Given the description of an element on the screen output the (x, y) to click on. 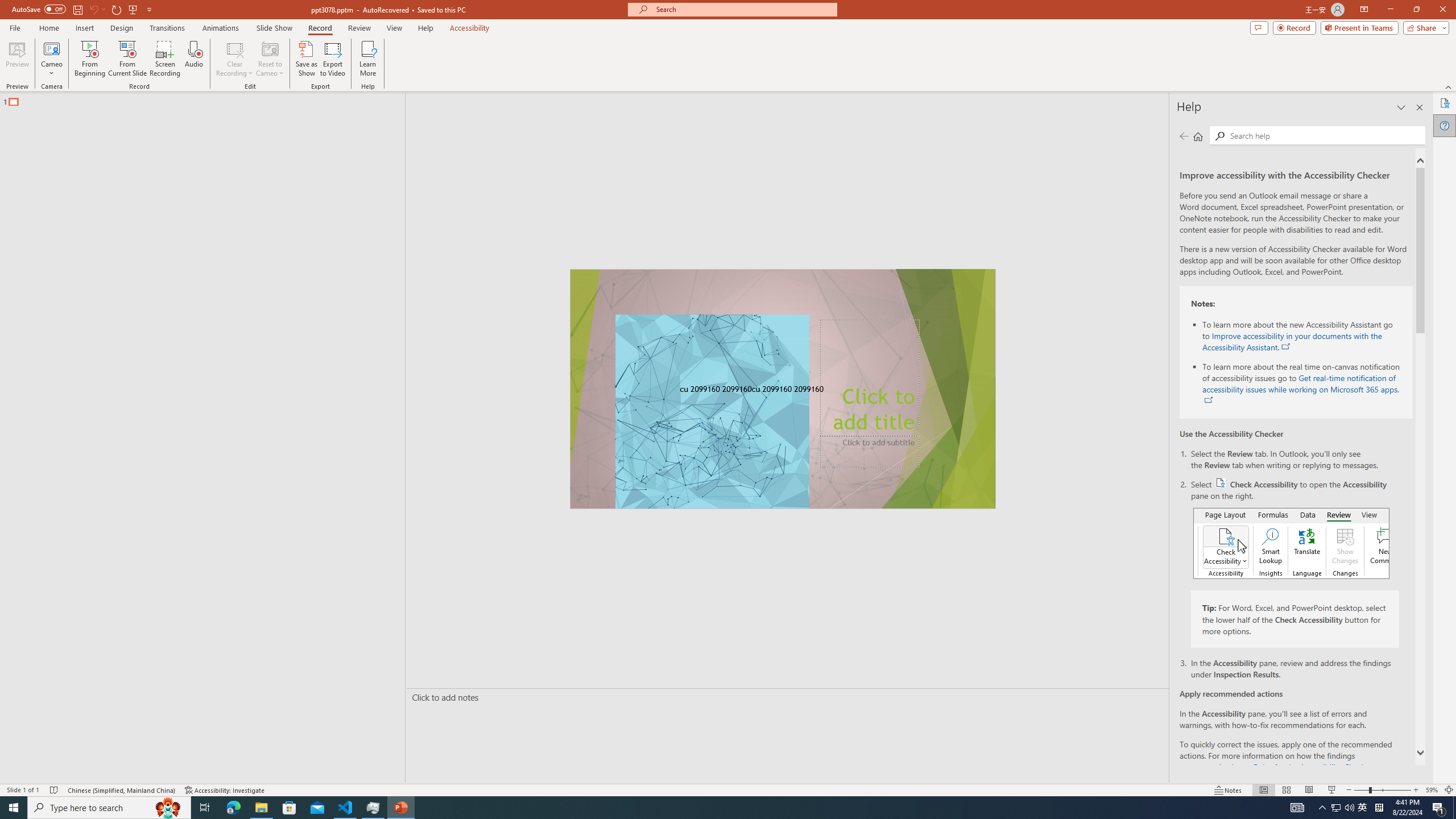
openinnewwindow (1208, 400)
Zoom 59% (1431, 790)
